Given the description of an element on the screen output the (x, y) to click on. 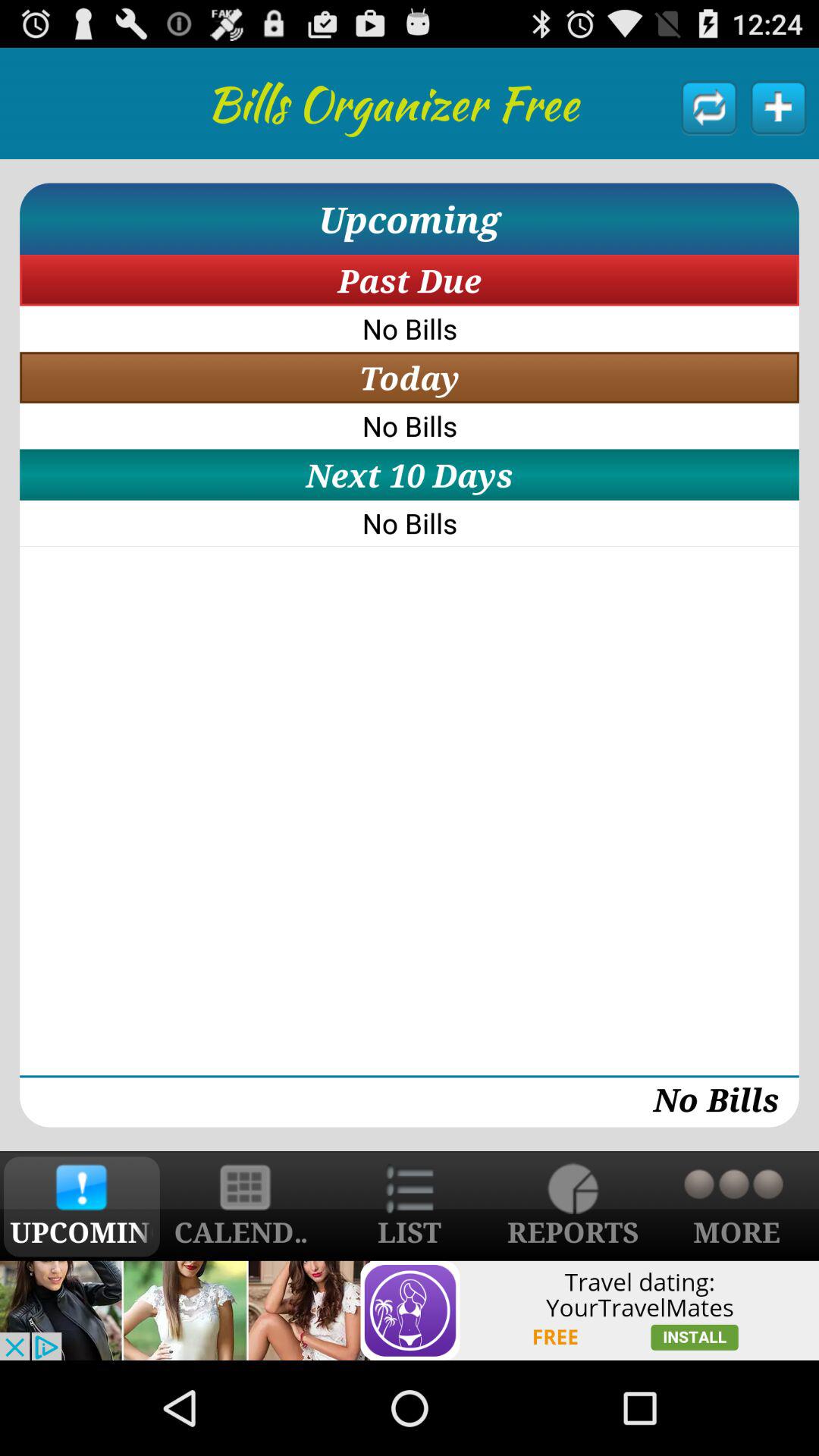
click refresh button (709, 107)
